Given the description of an element on the screen output the (x, y) to click on. 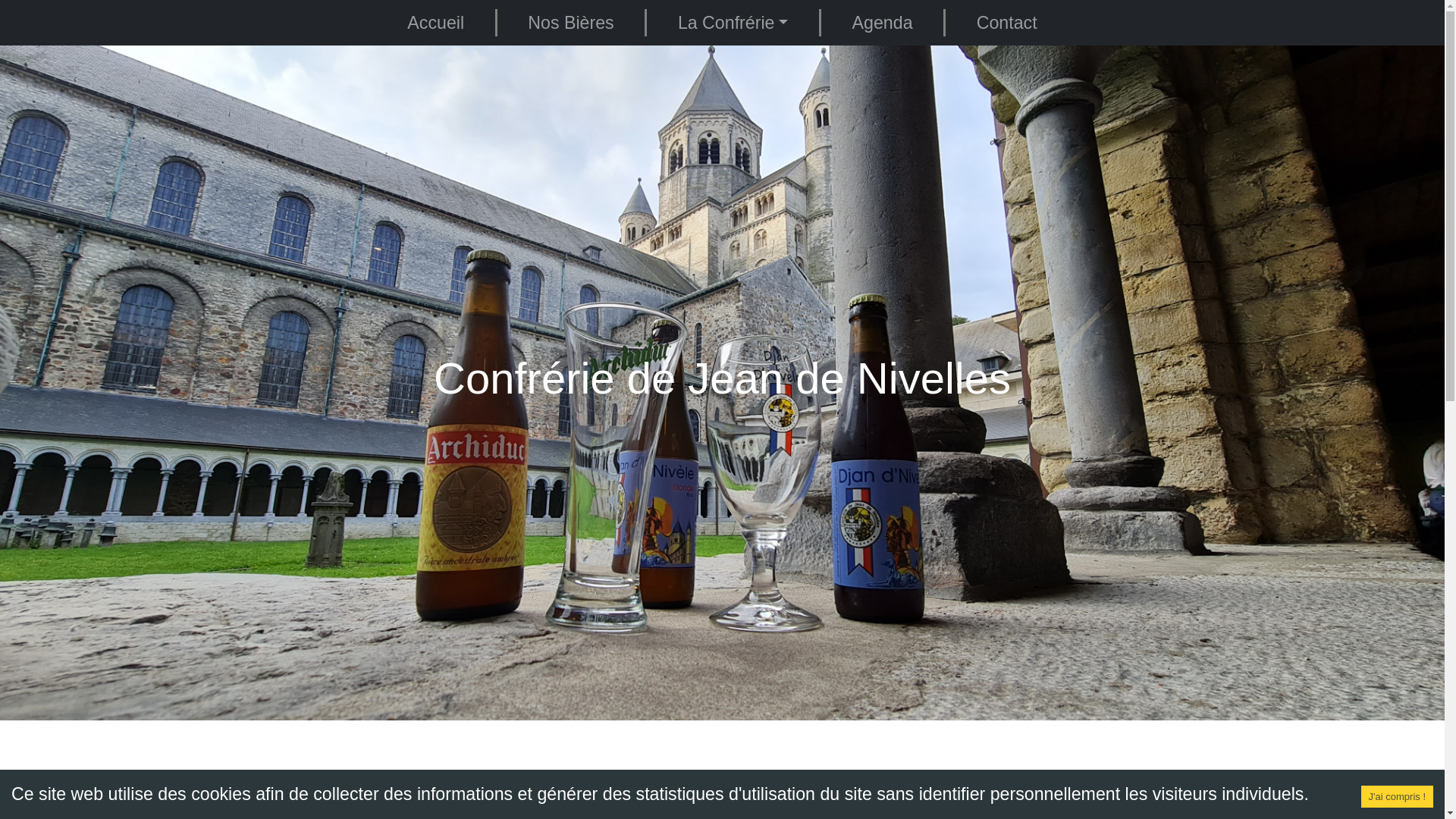
Contact Element type: text (1006, 23)
Accueil Element type: text (436, 23)
J'ai compris ! Element type: text (1397, 796)
Agenda Element type: text (883, 23)
